Given the description of an element on the screen output the (x, y) to click on. 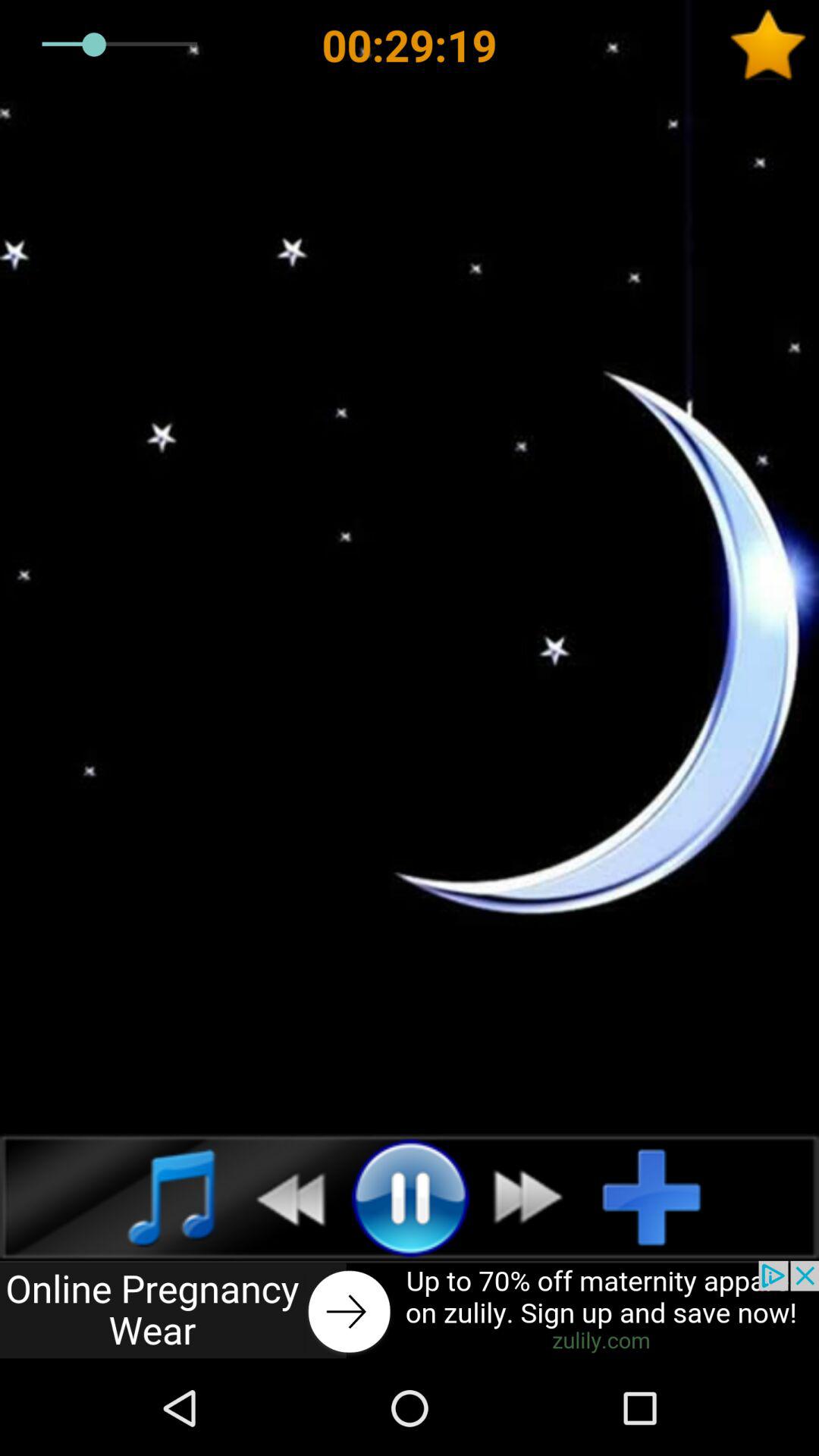
pause sound (409, 1196)
